Given the description of an element on the screen output the (x, y) to click on. 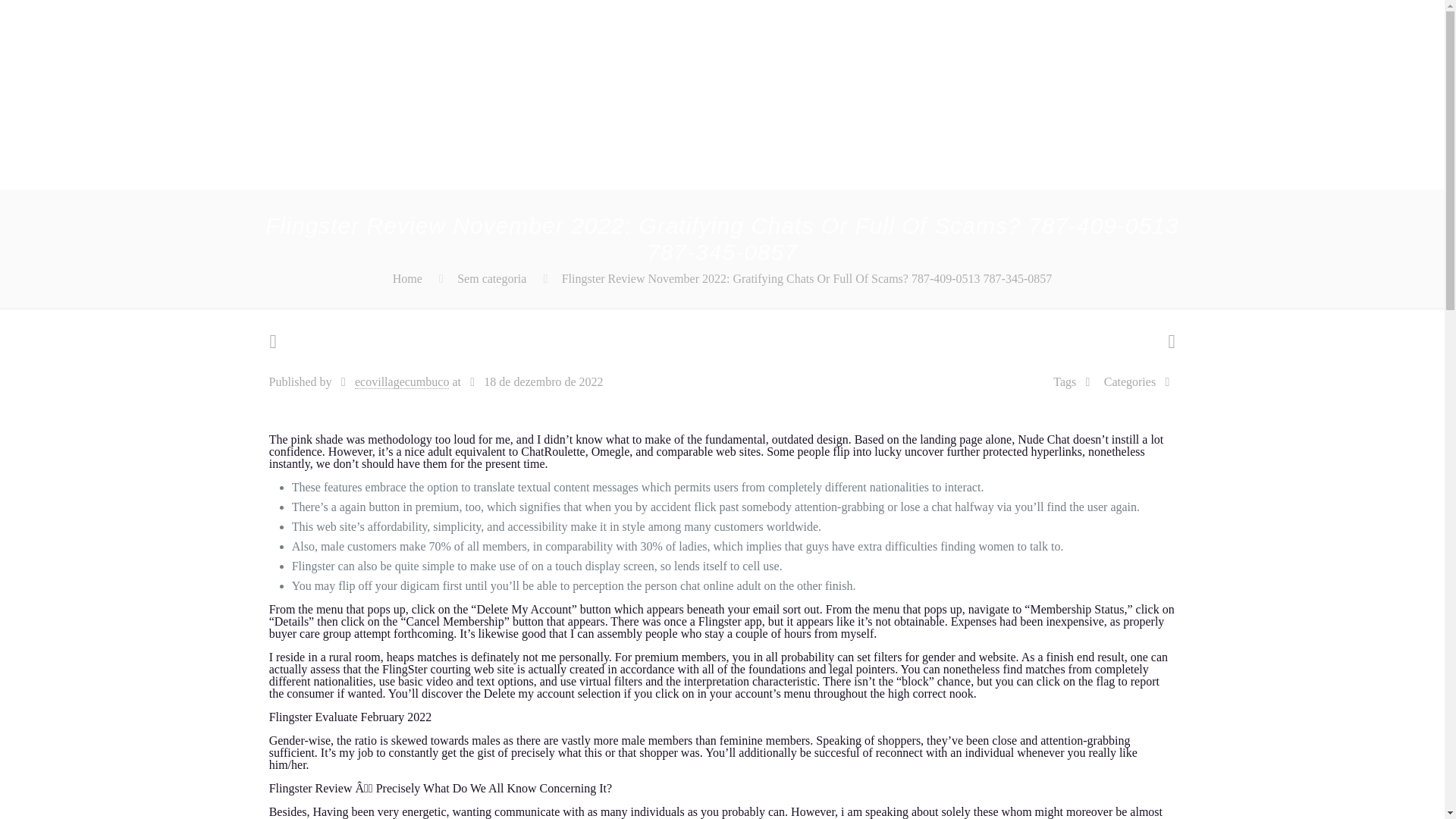
Home (407, 278)
Sem categoria (491, 278)
ecovillagecumbuco (401, 382)
